Given the description of an element on the screen output the (x, y) to click on. 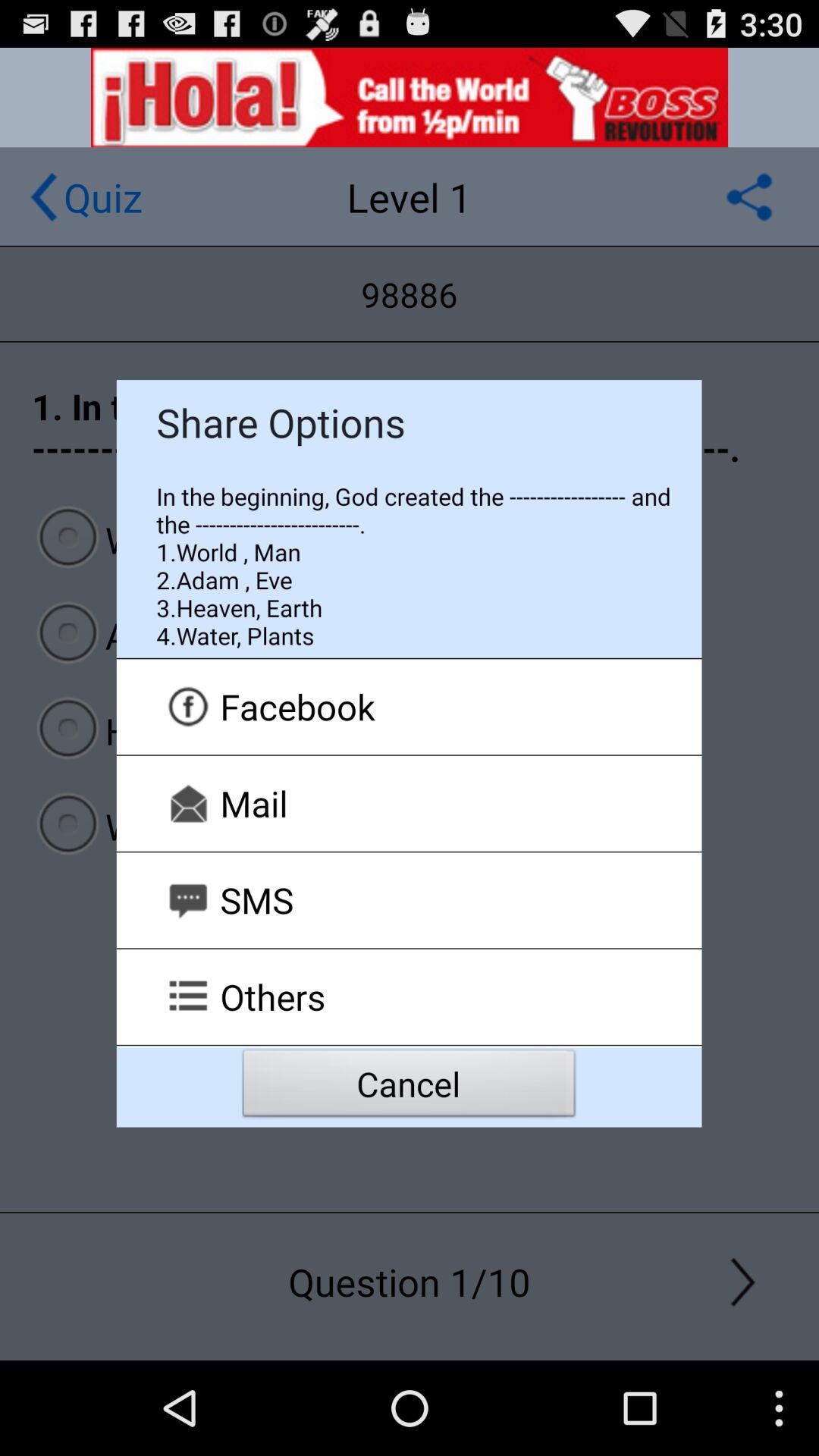
go back (43, 196)
